Given the description of an element on the screen output the (x, y) to click on. 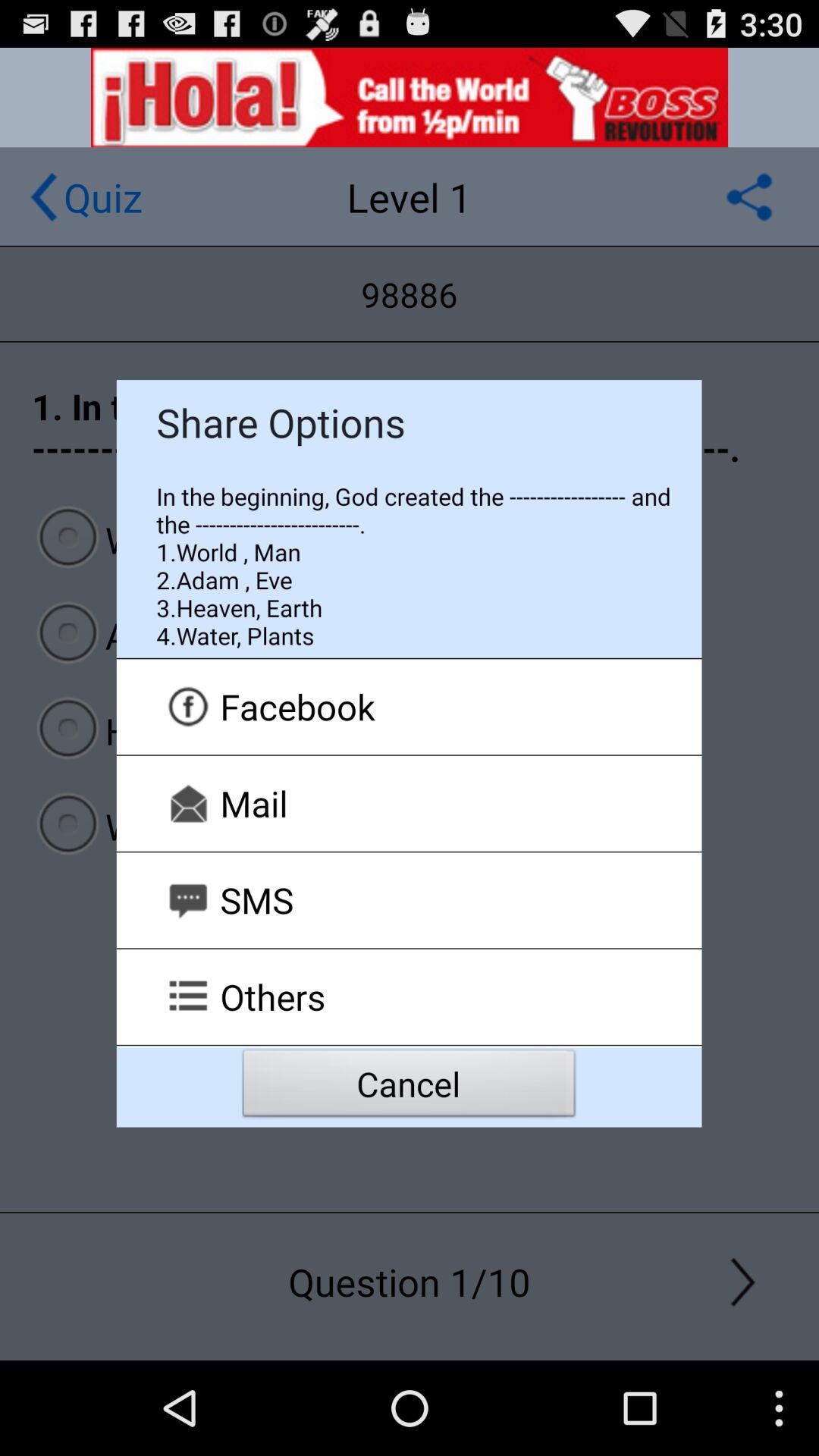
go back (43, 196)
